Given the description of an element on the screen output the (x, y) to click on. 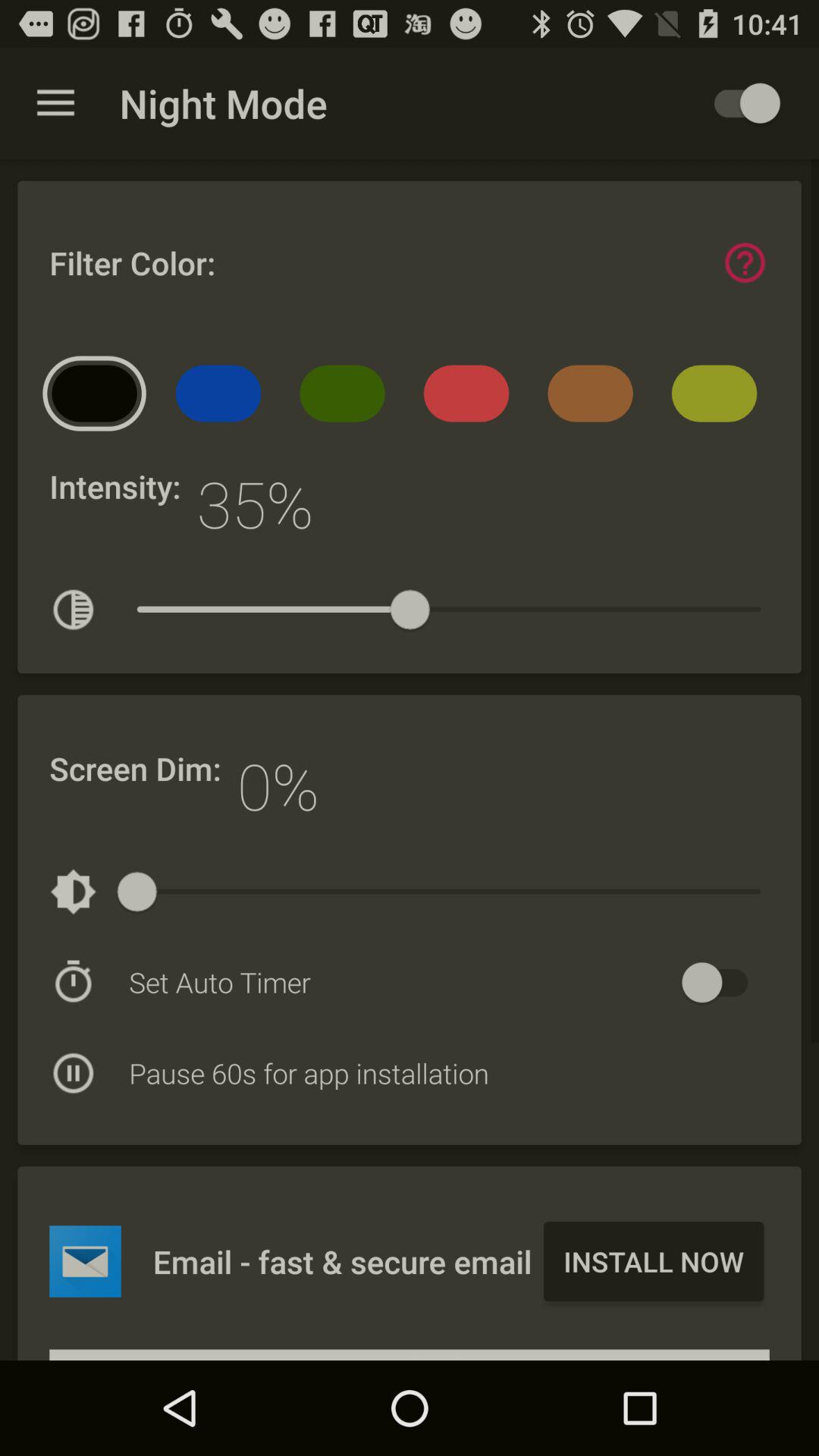
get help (744, 262)
